Given the description of an element on the screen output the (x, y) to click on. 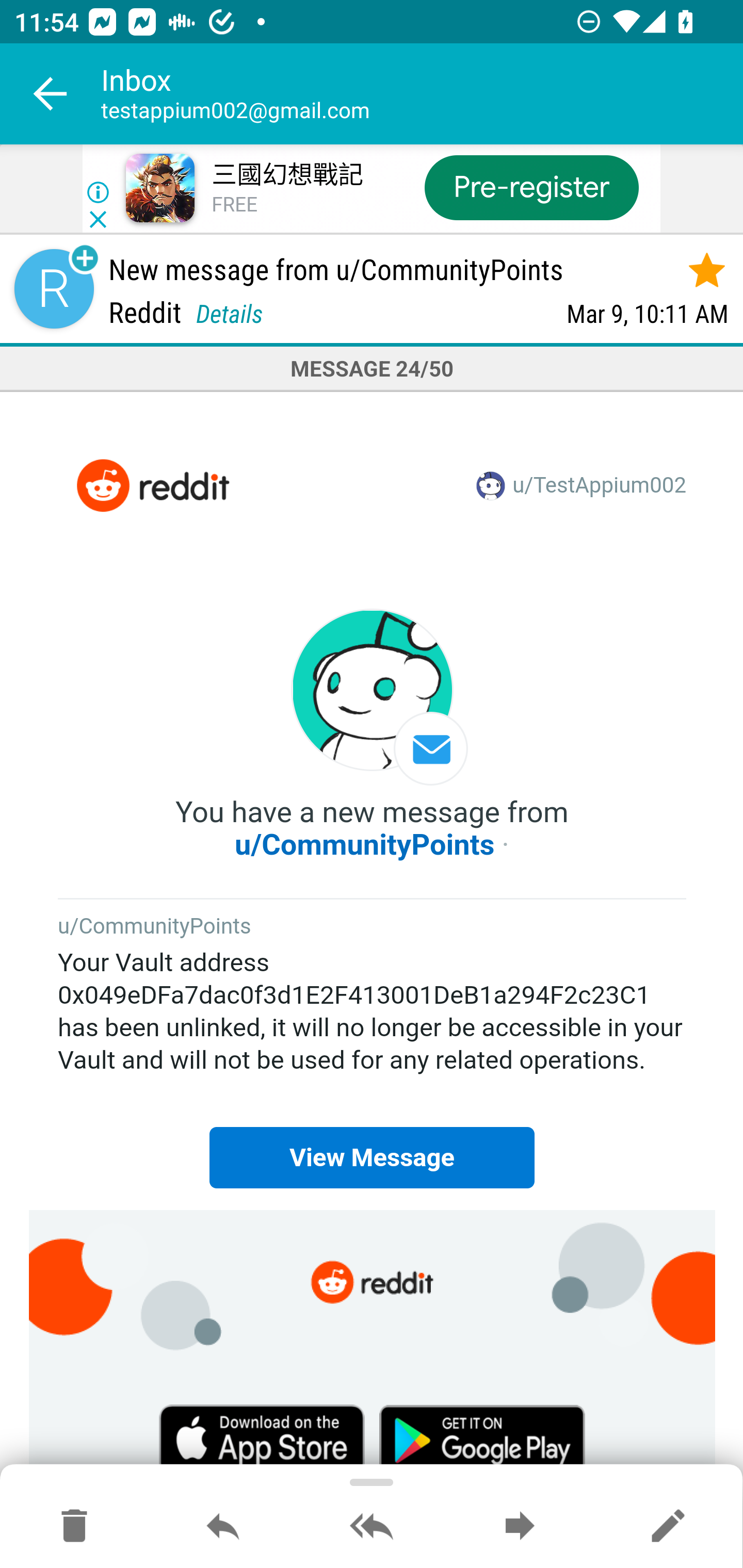
Navigate up (50, 93)
Inbox testappium002@gmail.com (422, 93)
Pre-register (530, 187)
三國幻想戰記 (287, 175)
FREE (234, 204)
Sender contact button (53, 289)
stf_2bQVGEViGYSLoH-p_cp8TnCmUzbskHpp7opWl8g=343 (151, 485)
u/TestAppium002 (599, 486)
k953CYlMaTwh0p01IfXylAjA30qx0TiRyAzDNki6bpM=343 (372, 697)
u/CommunityPoints (364, 844)
u/CommunityPoints (154, 927)
View Message (371, 1157)
UYHsm_VYdYvrX6v8bW6ZUcCFyZNFLLb_4kchyJ3FWK8=343 (372, 1280)
EujroCXblHV7QmxX79-wCVmdCKMOt7sjGo0fcibRsJE=343 (262, 1436)
8oSRNznEcjfFEz10hD0jhnDrjJg-CZ6zTGBo1DUIwDE=343 (481, 1436)
Move to Deleted (74, 1527)
Reply (222, 1527)
Reply all (371, 1527)
Forward (519, 1527)
Reply as new (667, 1527)
